Given the description of an element on the screen output the (x, y) to click on. 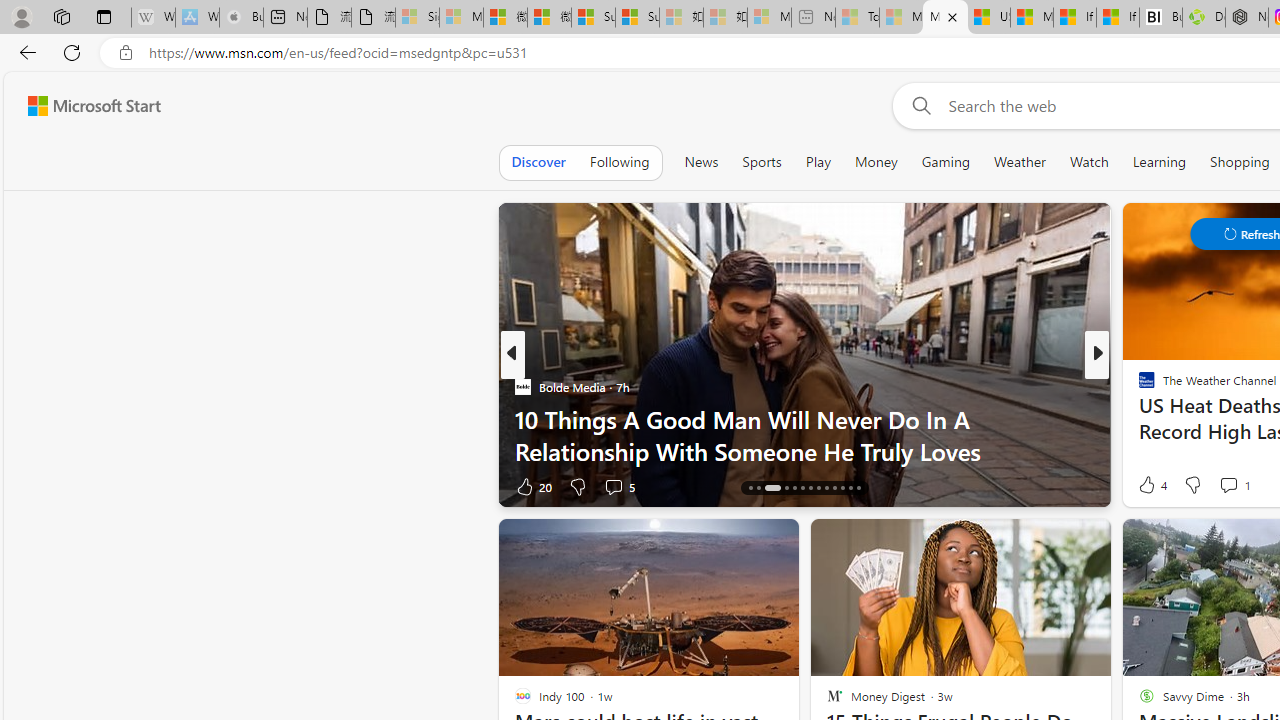
View comments 2 Comment (1234, 486)
115 Like (1151, 486)
Play (817, 161)
38 Like (1149, 486)
AutomationID: tab-22 (825, 487)
Learning (1159, 162)
The Register (1138, 418)
View comments 3 Comment (1241, 486)
PC World (1138, 386)
Descarga Driver Updater (1203, 17)
Microsoft Services Agreement - Sleeping (461, 17)
